Given the description of an element on the screen output the (x, y) to click on. 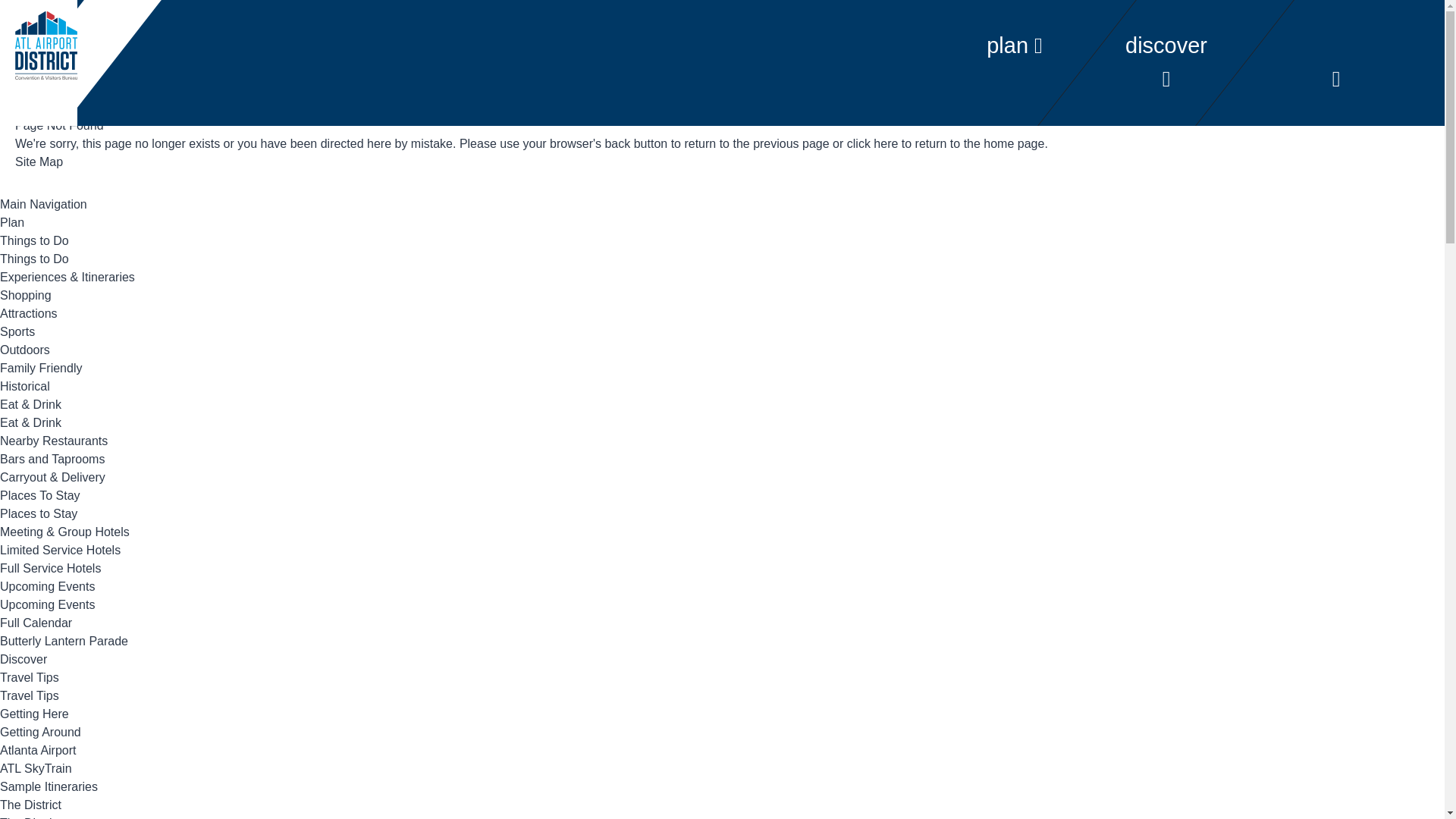
plan (1014, 45)
